Given the description of an element on the screen output the (x, y) to click on. 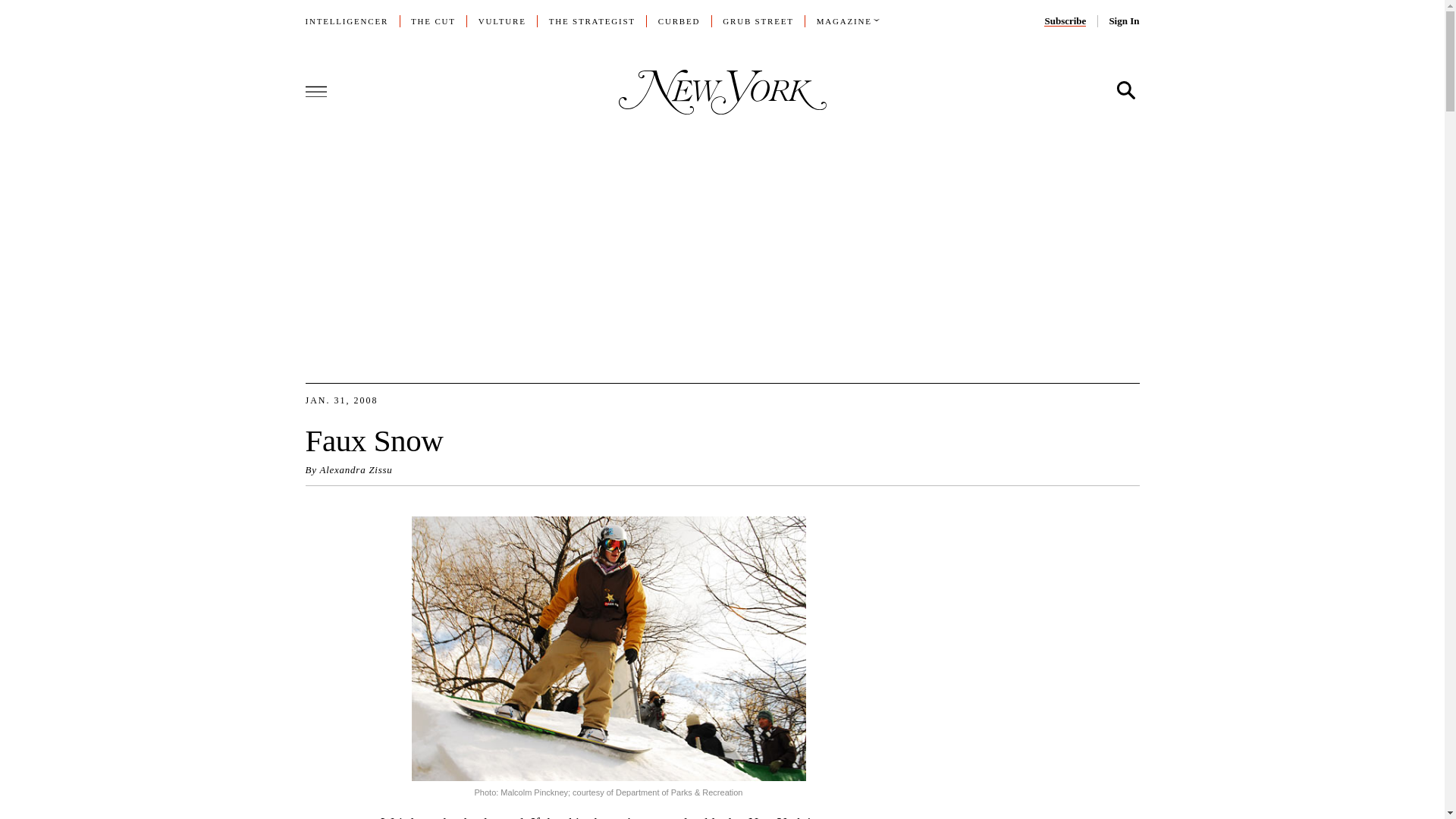
Sign In (1123, 20)
THE CUT (432, 20)
THE STRATEGIST (591, 20)
MAGAZINE (844, 20)
VULTURE (502, 20)
CURBED (679, 20)
GRUB STREET (757, 20)
Search (1124, 90)
Subscribe (1064, 20)
Menu (315, 90)
